Given the description of an element on the screen output the (x, y) to click on. 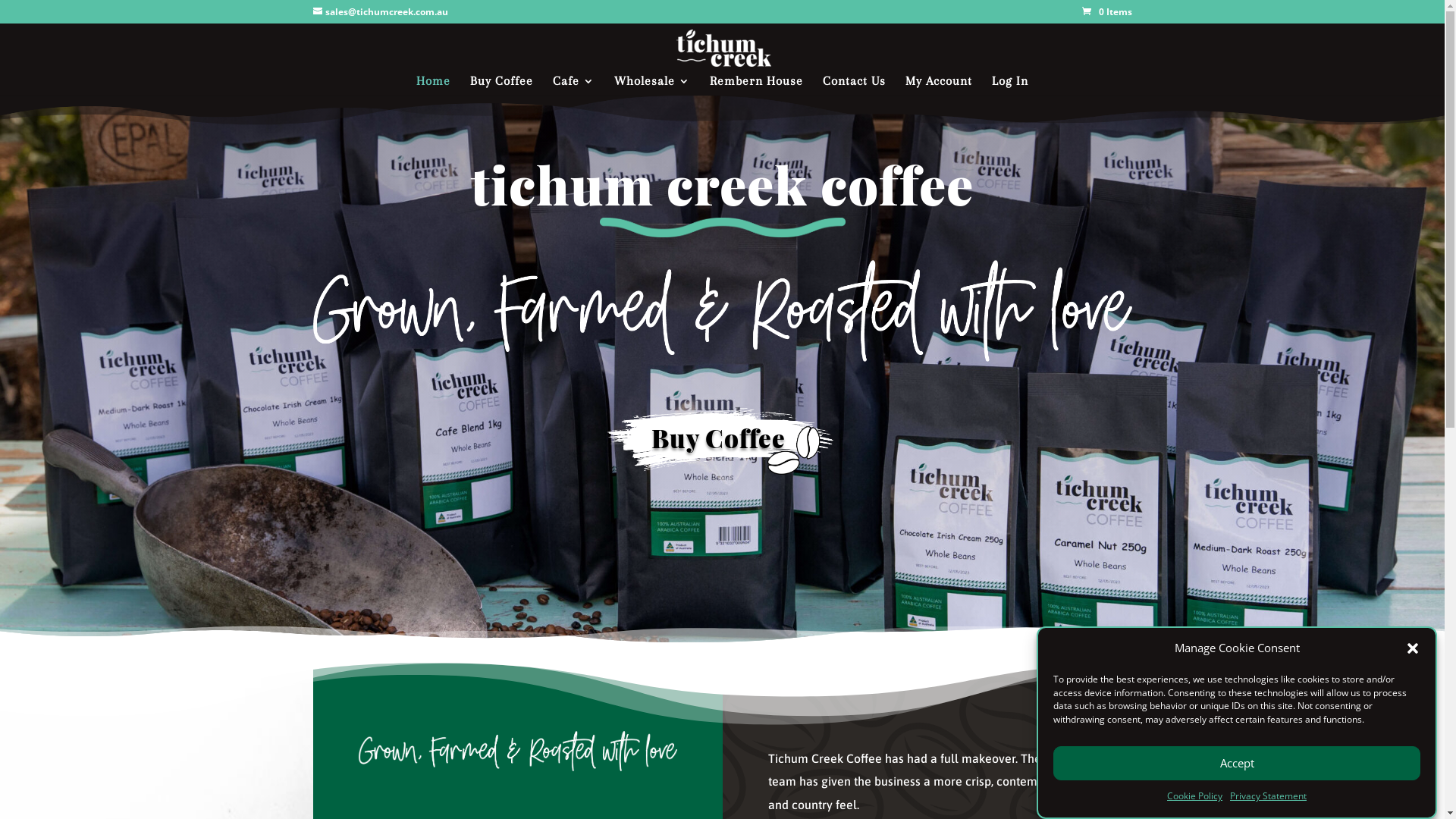
Contact Us Element type: text (853, 85)
Tichum-Creek-Tagline_White Element type: hover (516, 750)
Buy Coffee Element type: text (721, 439)
Tichum-Creek-Tagline_White Element type: hover (721, 311)
Cookie Policy Element type: text (1194, 796)
Buy Coffee Element type: text (501, 85)
Log In Element type: text (1009, 85)
0 Items Element type: text (1106, 11)
My Account Element type: text (938, 85)
Privacy Statement Element type: text (1268, 796)
sales@tichumcreek.com.au Element type: text (379, 11)
Accept Element type: text (1236, 763)
Home Element type: text (433, 85)
Tichum Creek_Line Element type: hover (721, 227)
Rembern House Element type: text (756, 85)
Cafe Element type: text (573, 85)
Wholesale Element type: text (652, 85)
